Given the description of an element on the screen output the (x, y) to click on. 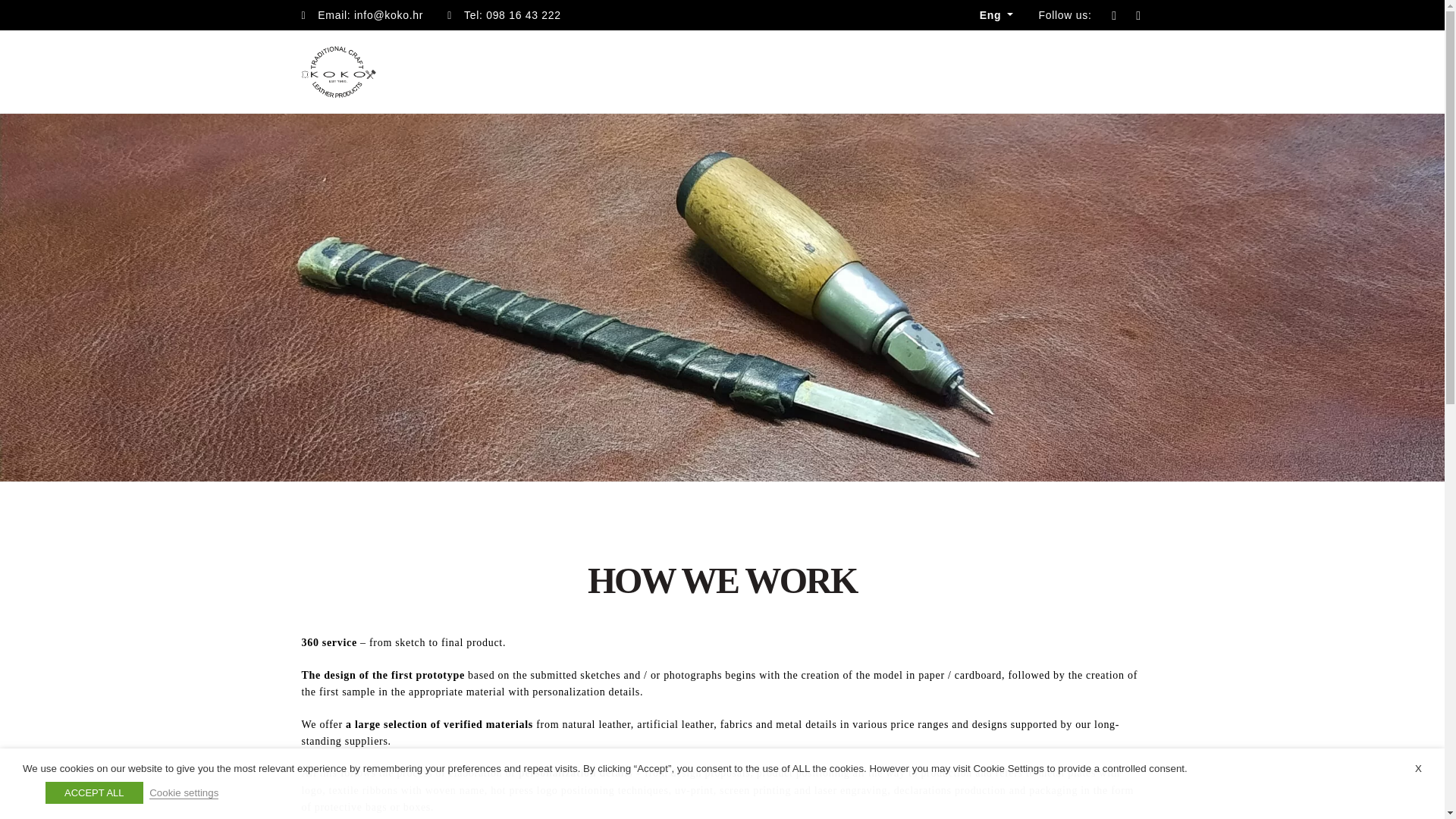
Koko - Just another WordPress site (338, 71)
Cookie settings (183, 793)
Eng (996, 14)
Facebook (1138, 15)
Tel: 098 16 43 222 (503, 14)
ACCEPT ALL (93, 792)
Instagram (1113, 15)
